Given the description of an element on the screen output the (x, y) to click on. 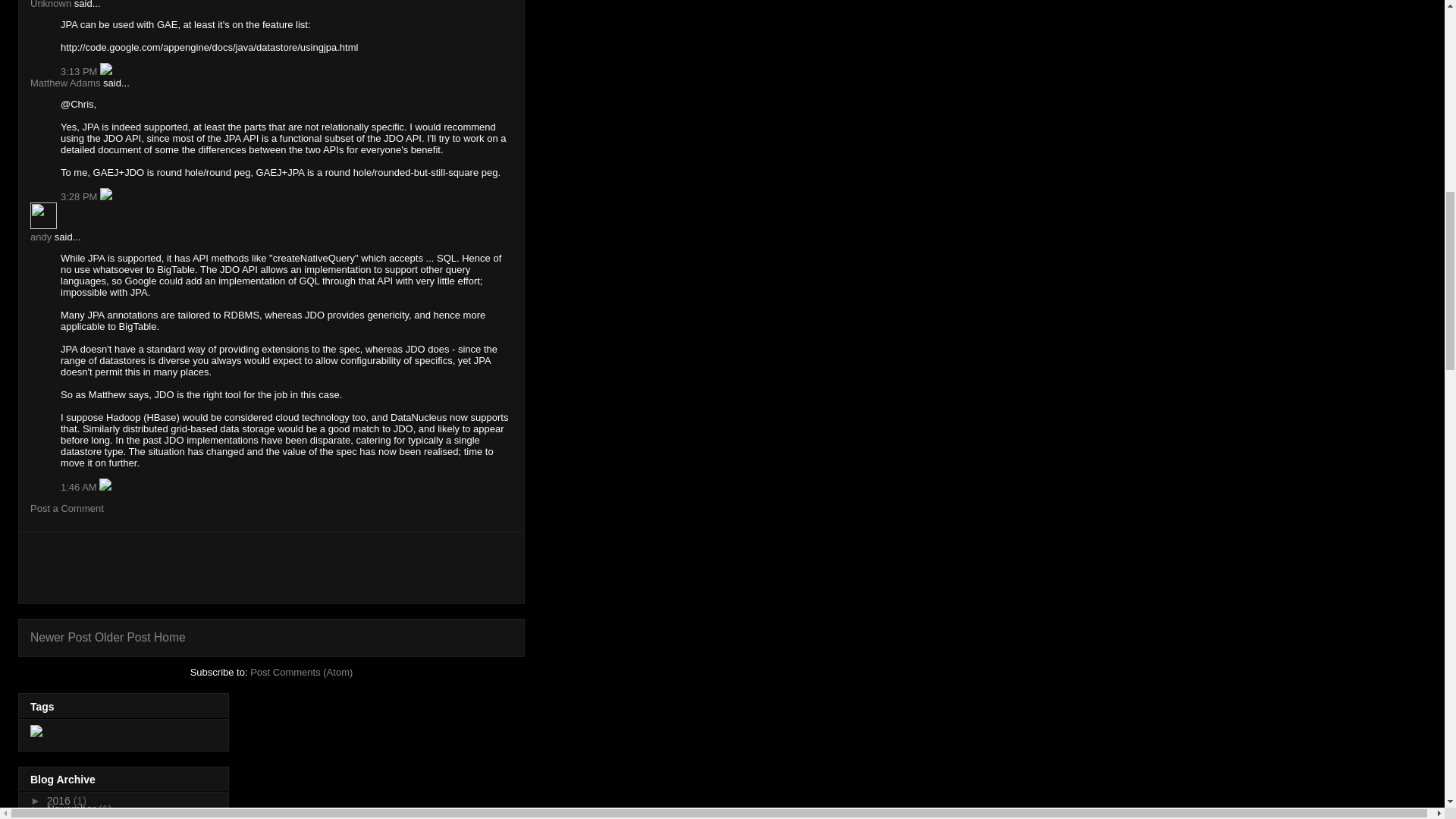
comment permalink (80, 71)
Delete Comment (106, 71)
comment permalink (80, 196)
Delete Comment (106, 196)
Unknown (50, 4)
